Given the description of an element on the screen output the (x, y) to click on. 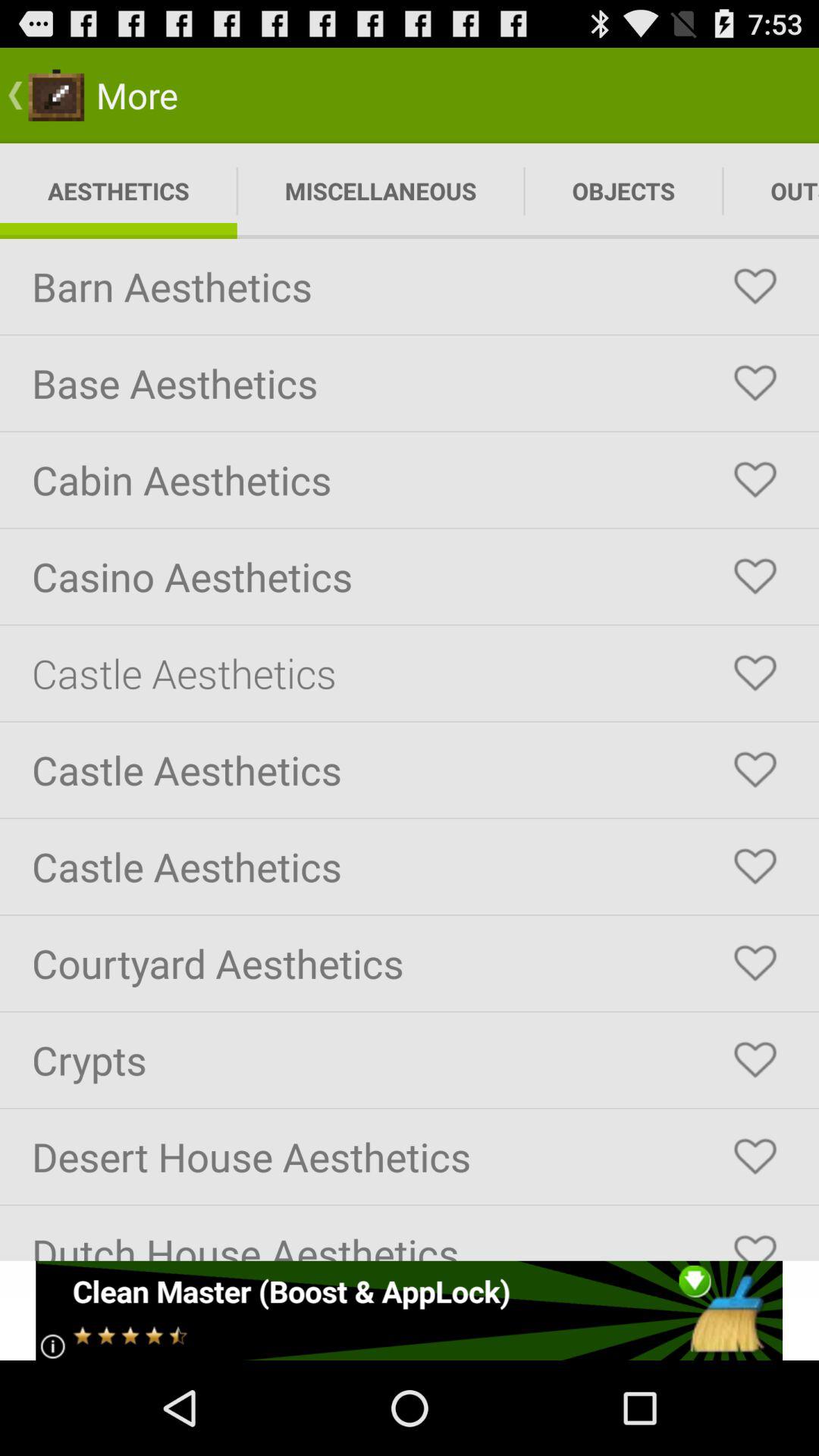
add to favorites (755, 963)
